Given the description of an element on the screen output the (x, y) to click on. 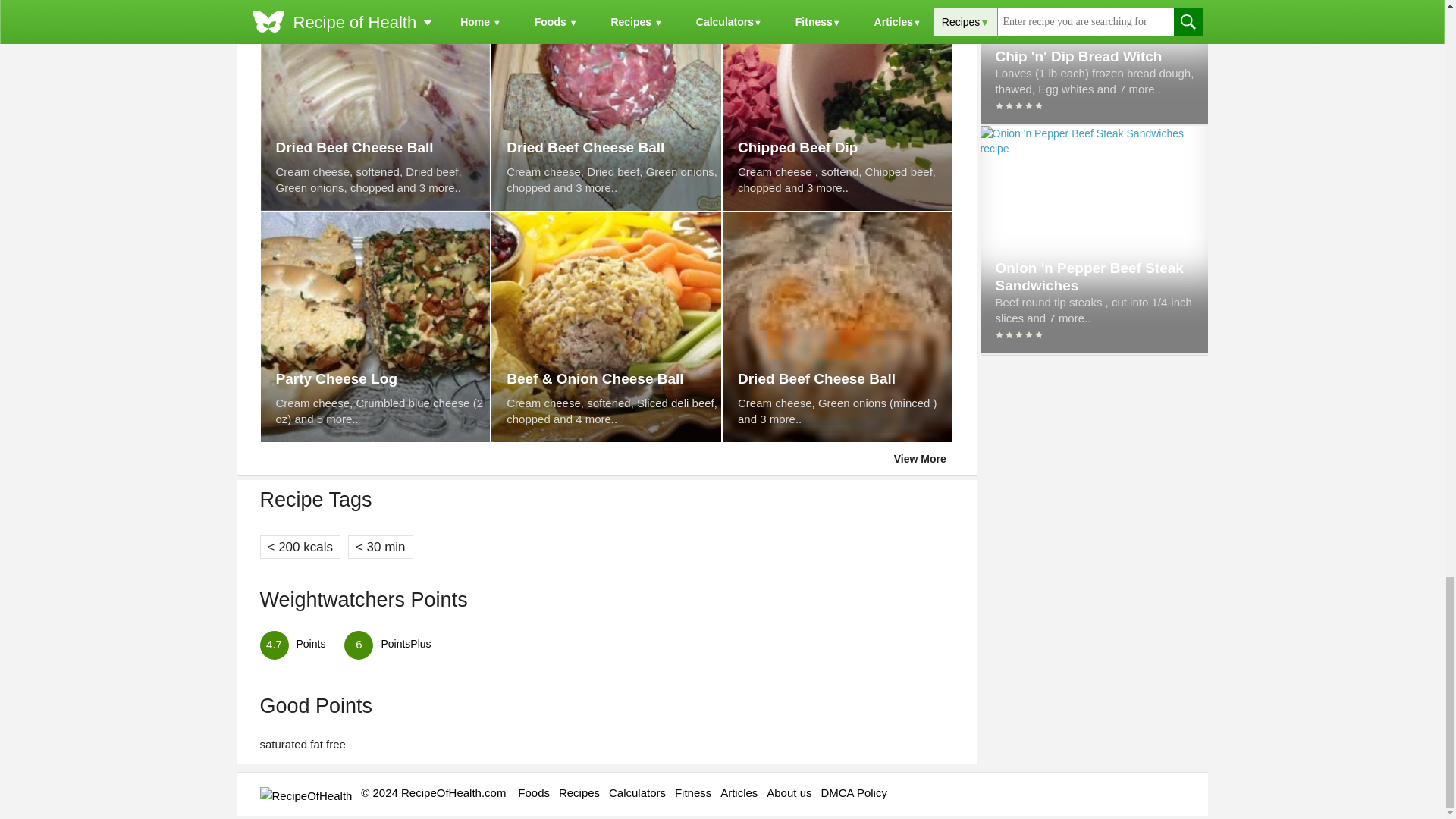
Foods (534, 792)
Articles (738, 792)
Recipes (579, 792)
Fitness (693, 792)
About us (788, 792)
Calculators (636, 792)
Dried Beef Cheese Ball (383, 147)
DMCA Policy (853, 792)
